Given the description of an element on the screen output the (x, y) to click on. 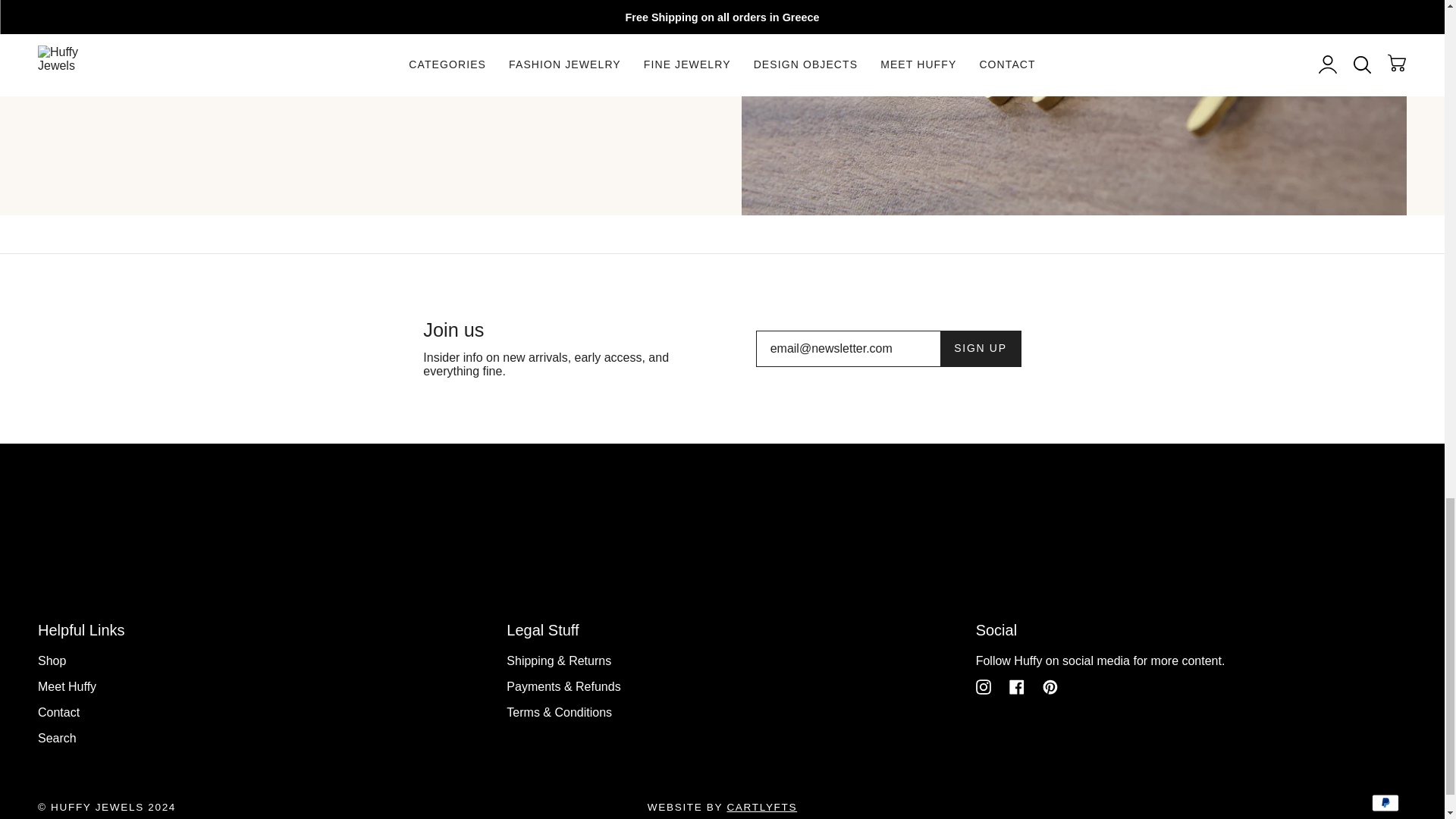
Huffy Jewels on Facebook (1017, 685)
PayPal (1385, 802)
Huffy Jewels on Pinterest (1050, 685)
Huffy Jewels on Instagram (983, 685)
